Given the description of an element on the screen output the (x, y) to click on. 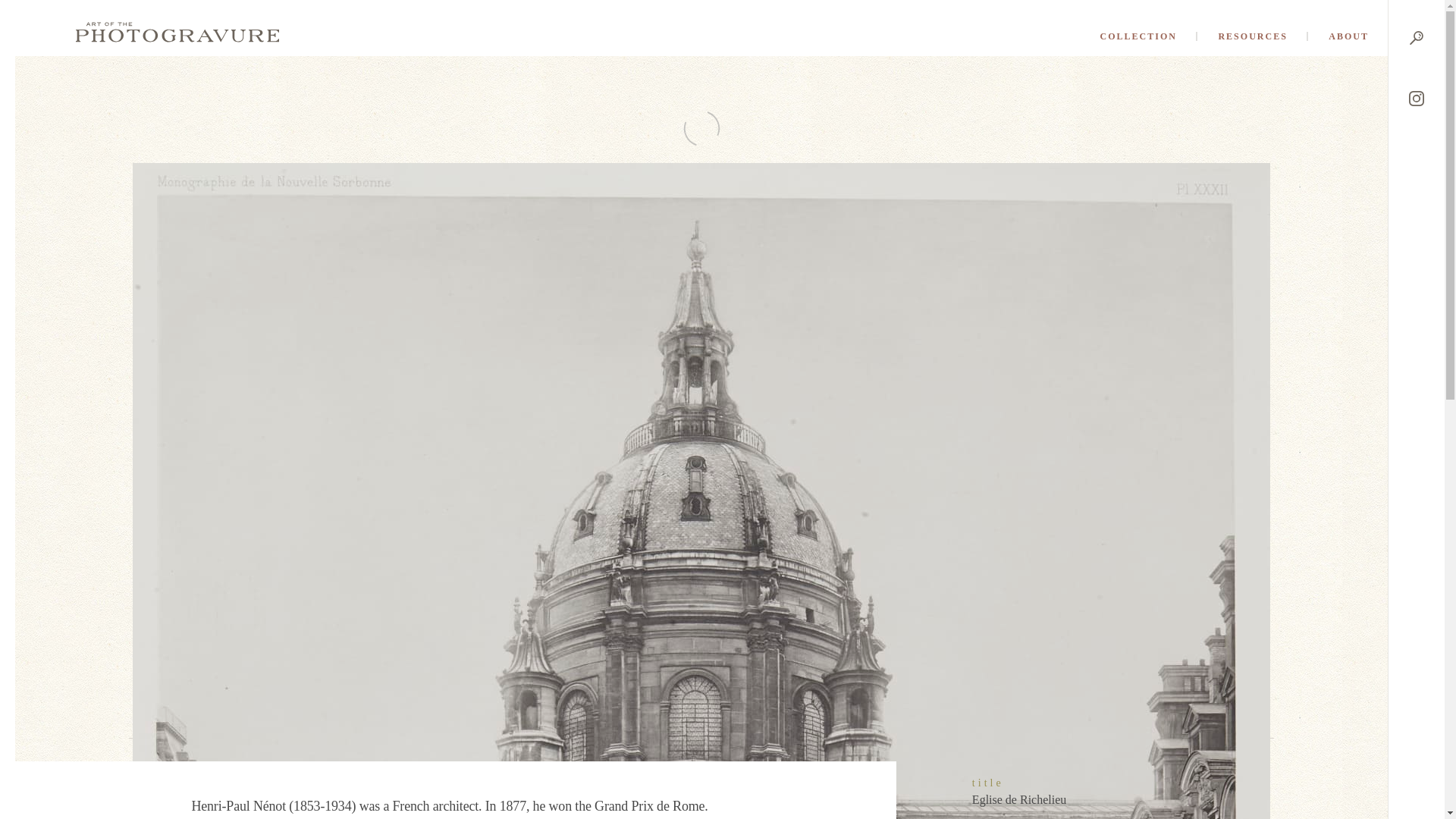
RESOURCES (1251, 35)
COLLECTION (1139, 35)
ABOUT (1347, 35)
